Given the description of an element on the screen output the (x, y) to click on. 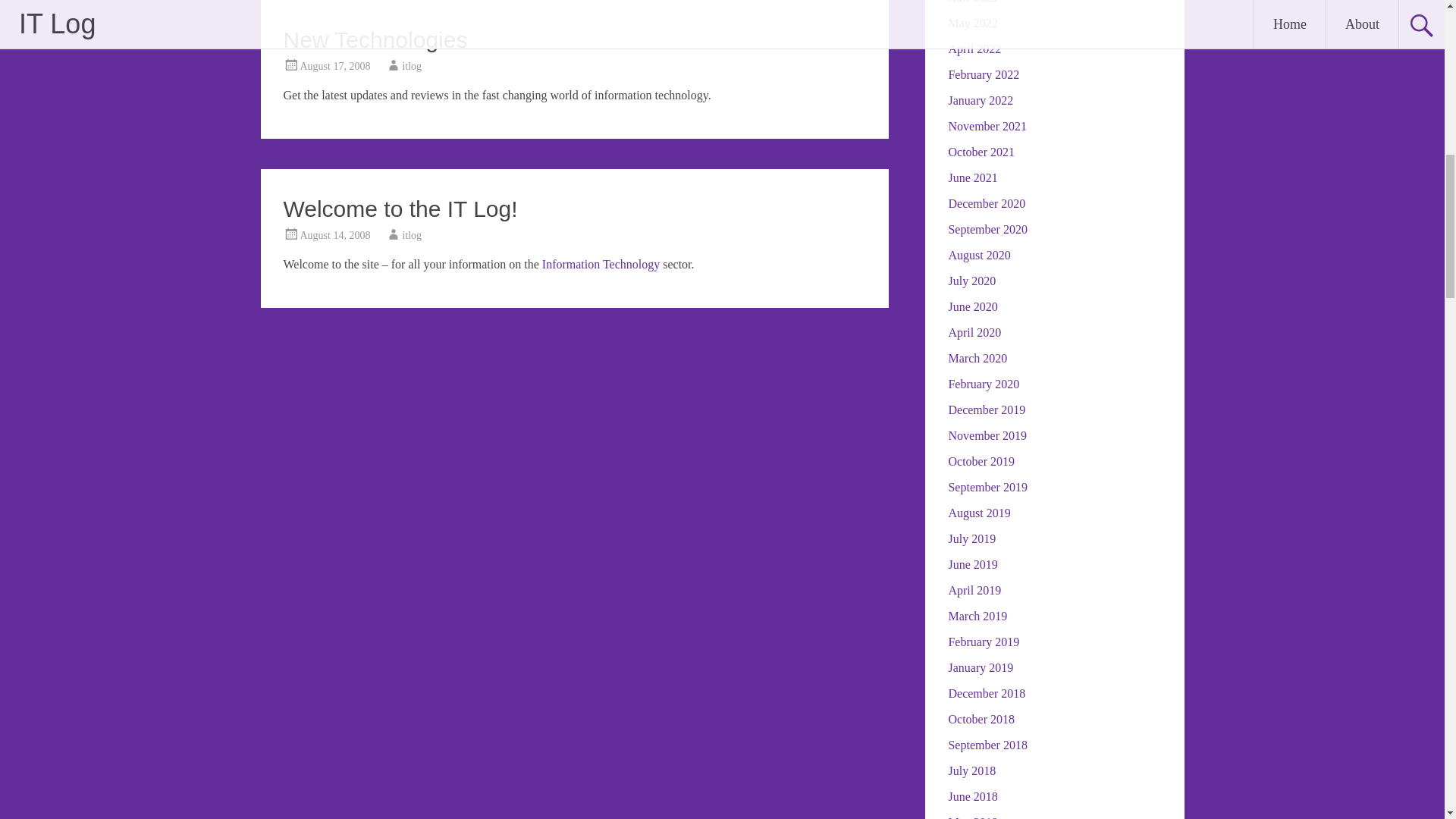
New Technologies (375, 39)
August 17, 2008 (335, 66)
Welcome to the IT Log! (400, 208)
June 2022 (972, 2)
August 14, 2008 (335, 235)
itlog (411, 235)
itlog (411, 66)
Information Technology (600, 264)
